Given the description of an element on the screen output the (x, y) to click on. 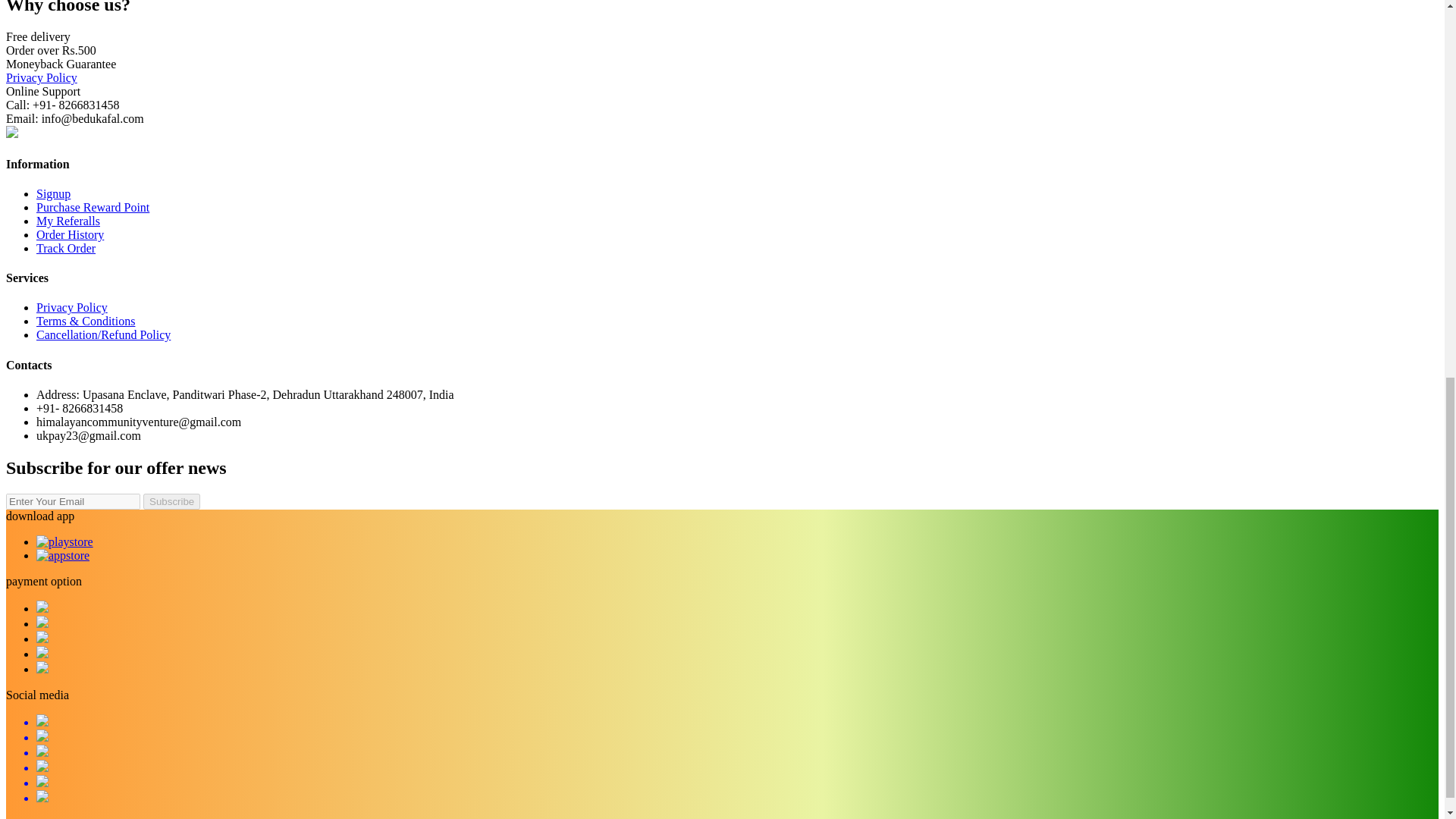
Privacy Policy (41, 77)
Purchase Reward Point (92, 206)
Order History (69, 234)
Track Order (66, 247)
Signup (52, 193)
My Referalls (68, 220)
Privacy Policy (71, 307)
appstore (62, 554)
